Given the description of an element on the screen output the (x, y) to click on. 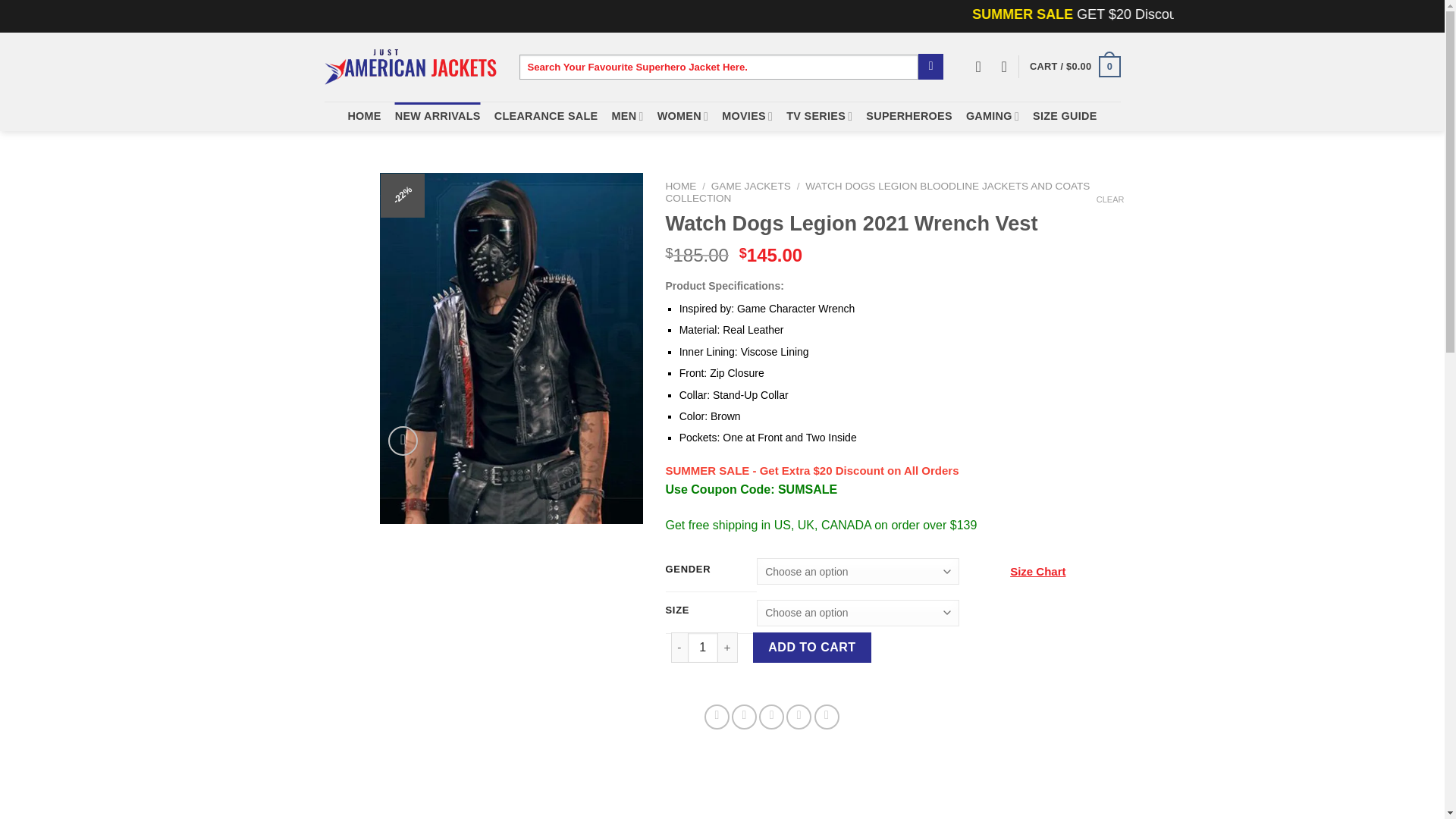
MEN (627, 116)
Share on Twitter (744, 716)
Cart (1074, 66)
Search (930, 66)
1 (702, 647)
Pin on Pinterest (798, 716)
WOMEN (683, 116)
HOME (363, 115)
Email to a Friend (771, 716)
TV SERIES (818, 116)
NEW ARRIVALS (437, 115)
Share on Tumblr (826, 716)
Share on Facebook (716, 716)
CLEARANCE SALE (546, 115)
Zoom (402, 440)
